Given the description of an element on the screen output the (x, y) to click on. 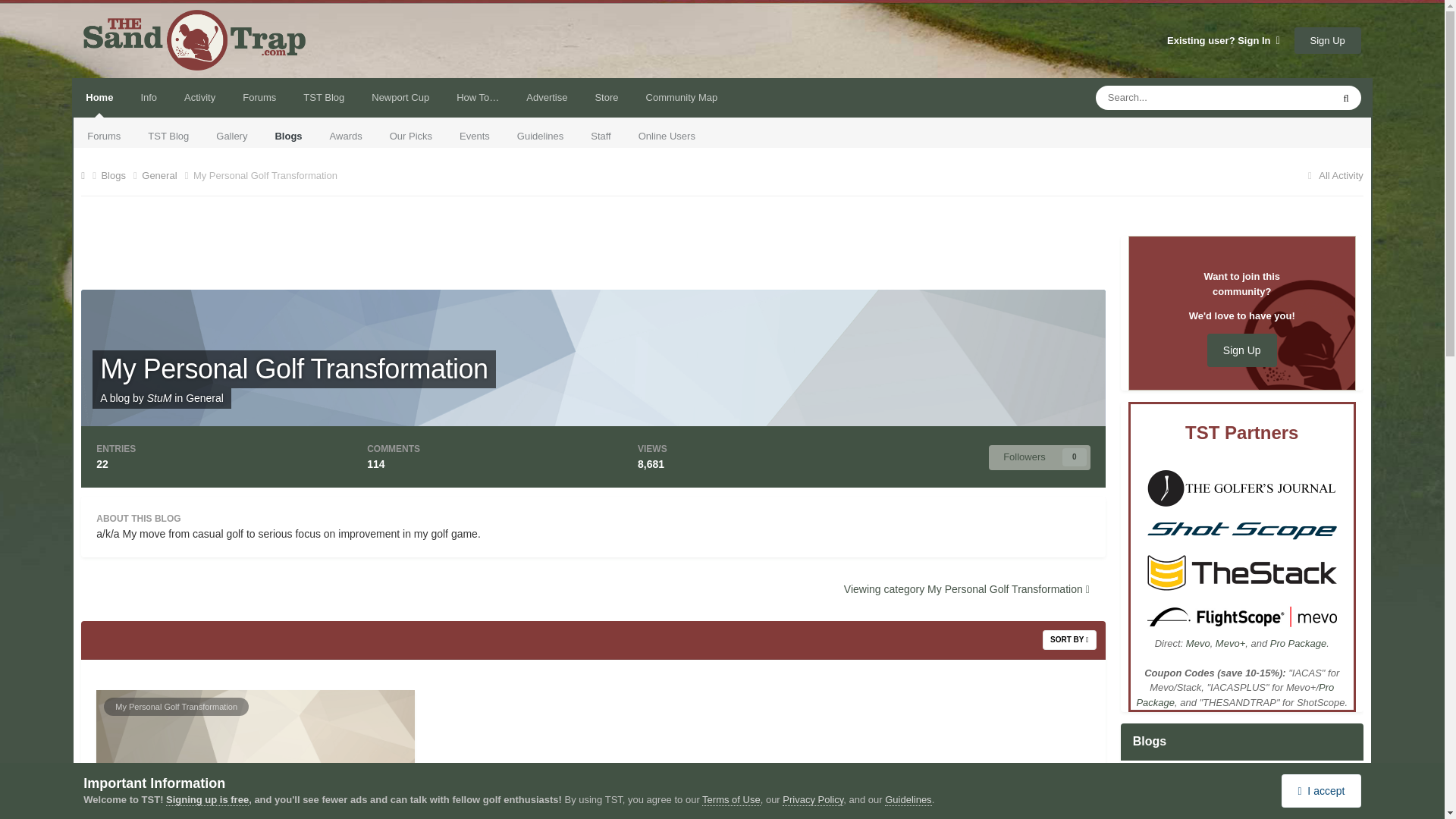
View this blog (1186, 785)
TST Blog (167, 136)
Existing user? Sign In   (1223, 40)
Info (148, 97)
Activity (199, 97)
Blogs (287, 136)
Go to StuM's profile (159, 398)
FlightScope Mevo (1241, 615)
Sign in to follow this (1039, 457)
Golfer's Journal (1241, 487)
Staff (600, 136)
Our Picks (410, 136)
ShotScope (1241, 530)
Awards (345, 136)
Sign Up (1326, 40)
